Given the description of an element on the screen output the (x, y) to click on. 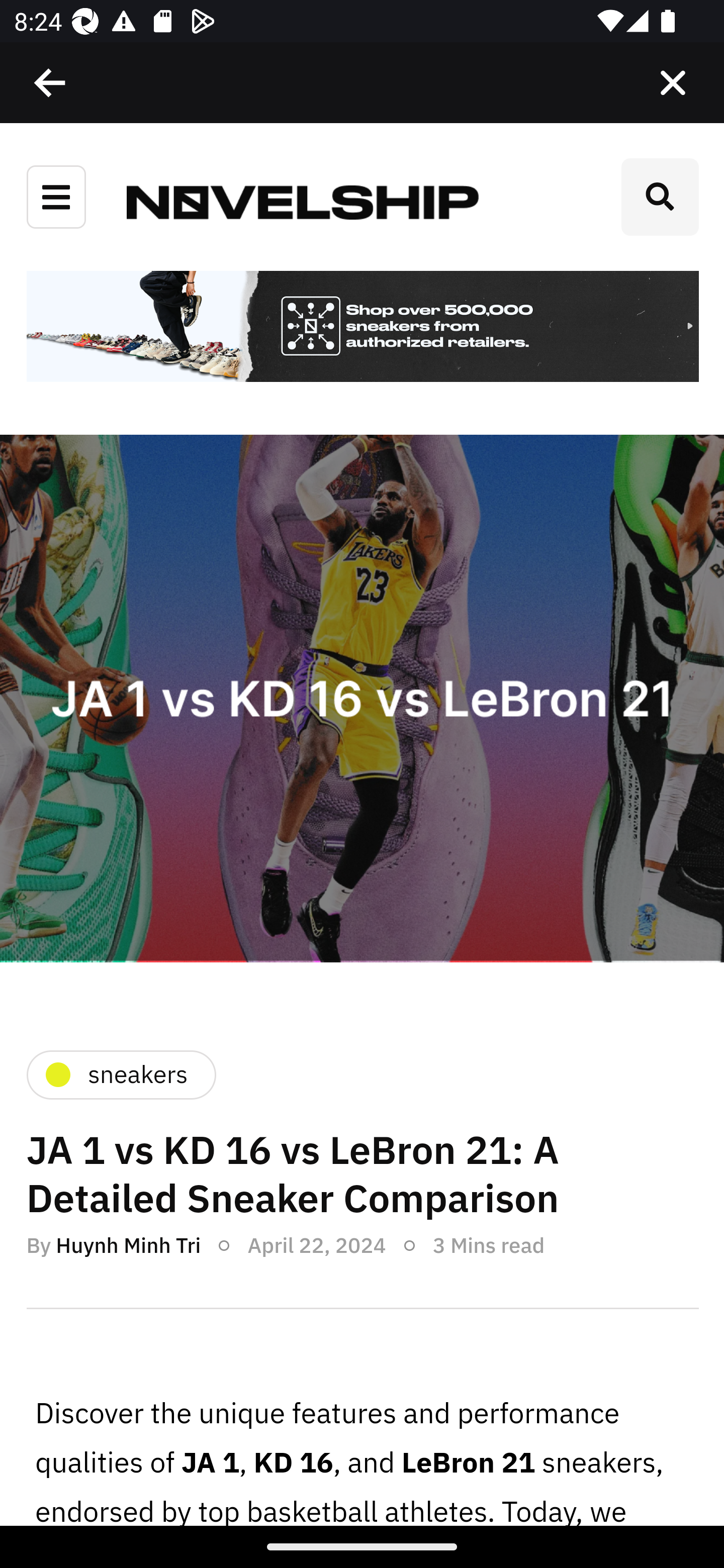
 (50, 83)
 (672, 83)
Search toggle (659, 196)
Novelship News (303, 201)
sneakers?utm_source=blog&utm_medium=banner (362, 327)
sneakers (120, 1074)
Huynh Minh Tri (127, 1244)
